Given the description of an element on the screen output the (x, y) to click on. 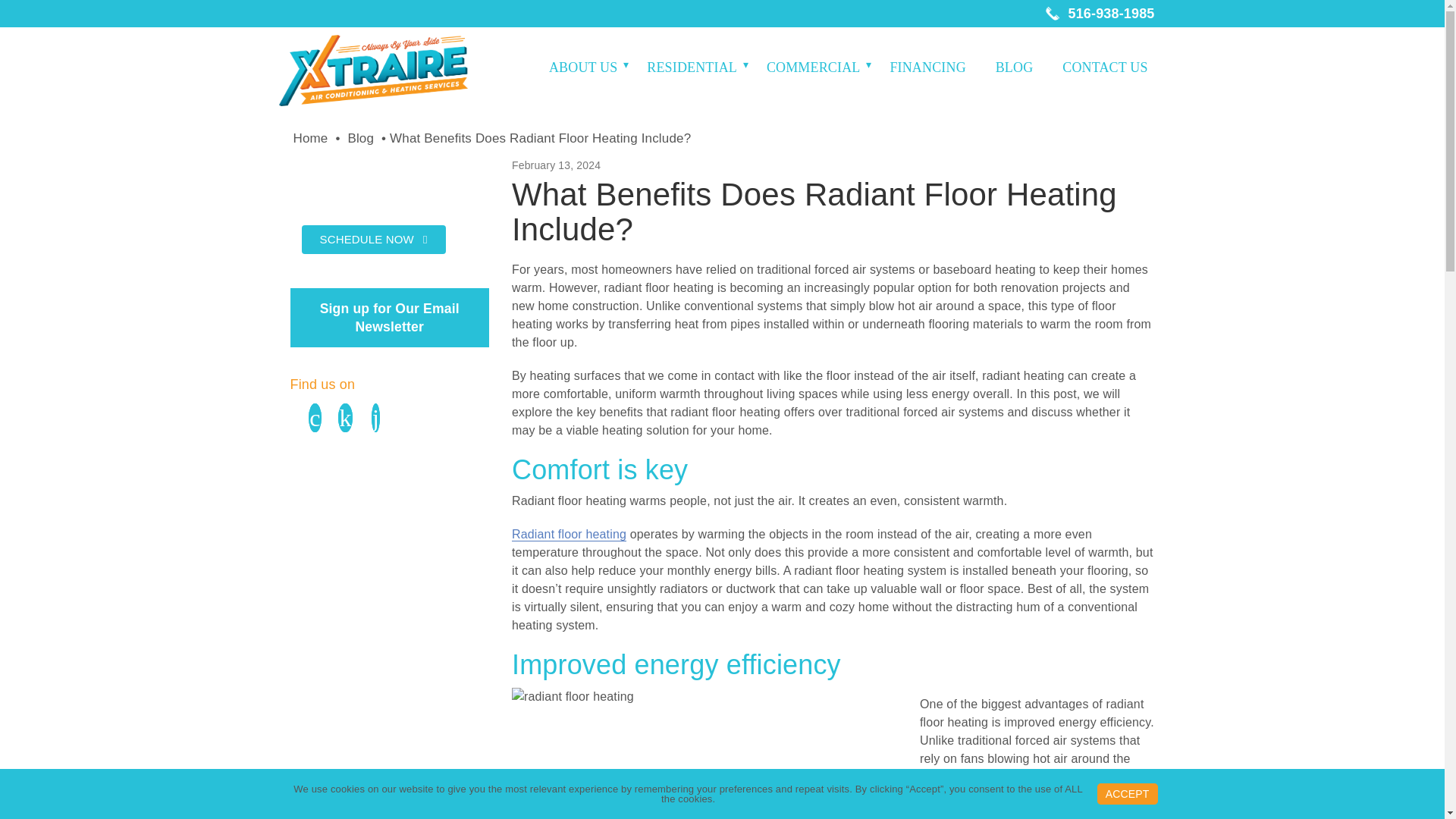
Radiant floor heating (569, 534)
BLOG (1017, 67)
CONTACT US (1108, 67)
Blog (360, 138)
What Benefits Does Radiant Floor Heating Include? (540, 138)
What Benefits Does Radiant Floor Heating Include? (360, 138)
COMMERCIAL (817, 67)
Home (309, 138)
RESIDENTIAL (694, 67)
FINANCING (930, 67)
516-938-1985 (1099, 13)
ABOUT US (585, 67)
